Given the description of an element on the screen output the (x, y) to click on. 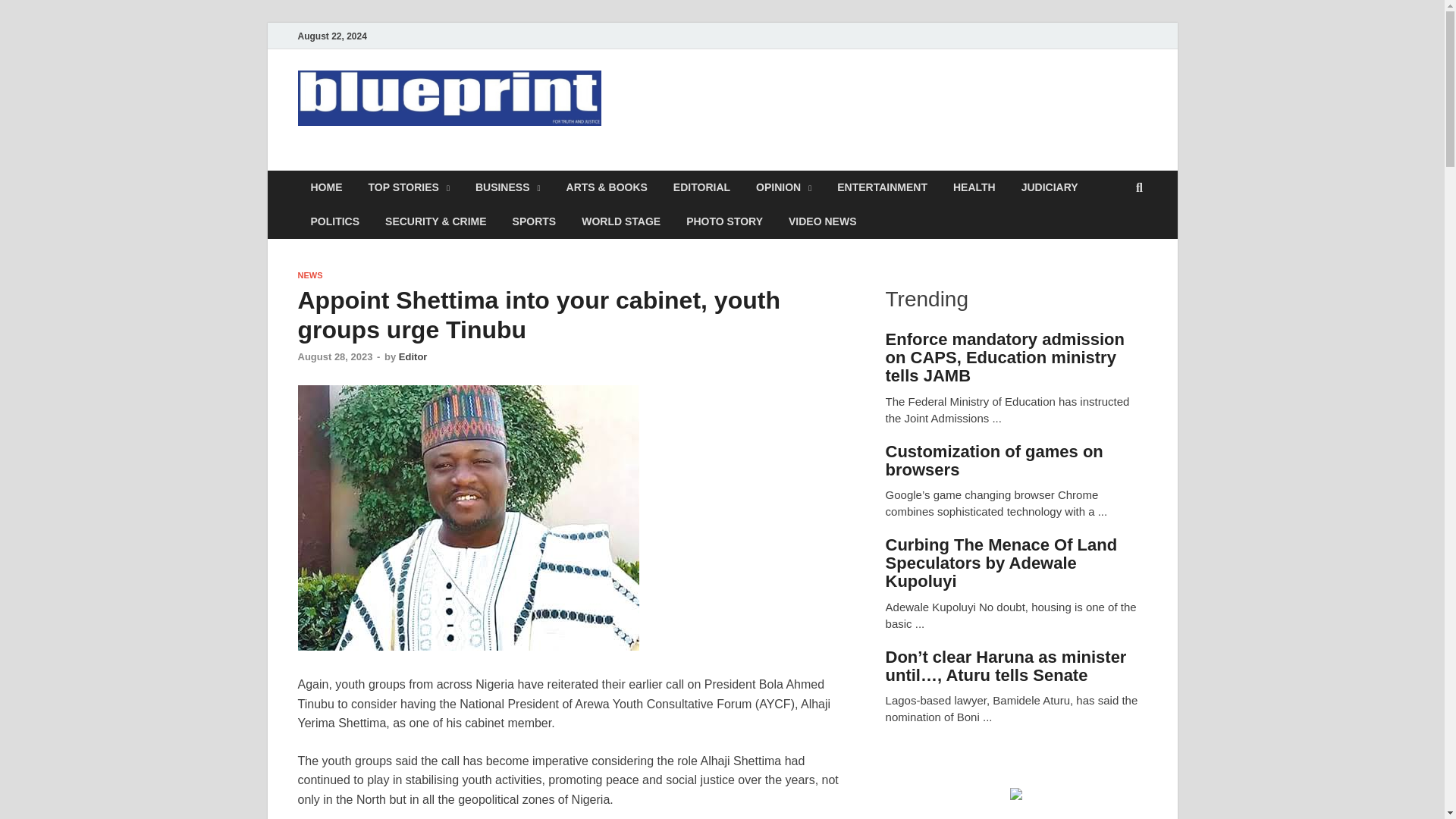
ENTERTAINMENT (882, 187)
HOME (326, 187)
EDITORIAL (701, 187)
BUSINESS (508, 187)
TOP STORIES (408, 187)
Blueprint Newspapers Limited (504, 161)
OPINION (783, 187)
